Given the description of an element on the screen output the (x, y) to click on. 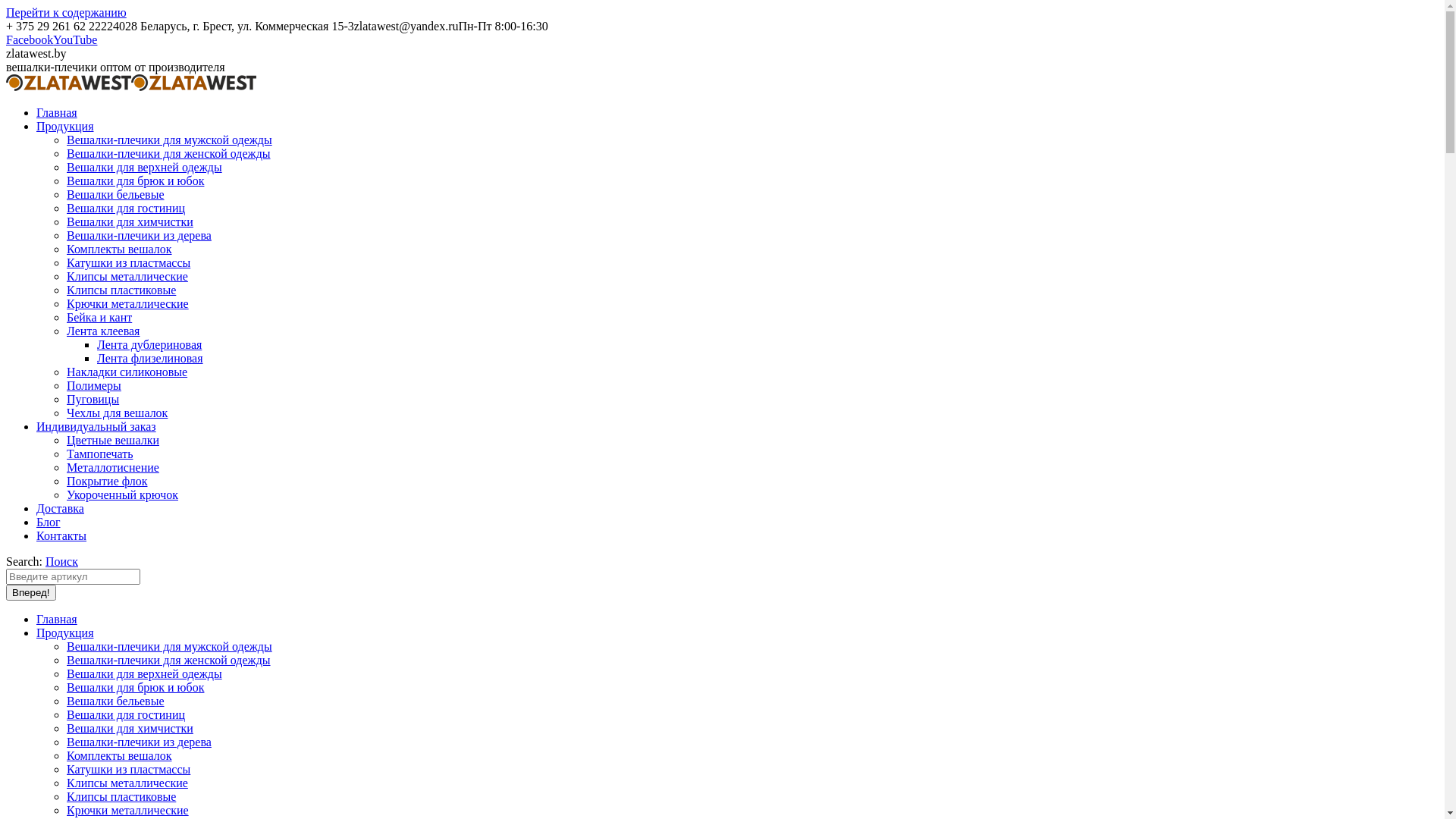
Facebook Element type: text (29, 39)
YouTube Element type: text (75, 39)
